Given the description of an element on the screen output the (x, y) to click on. 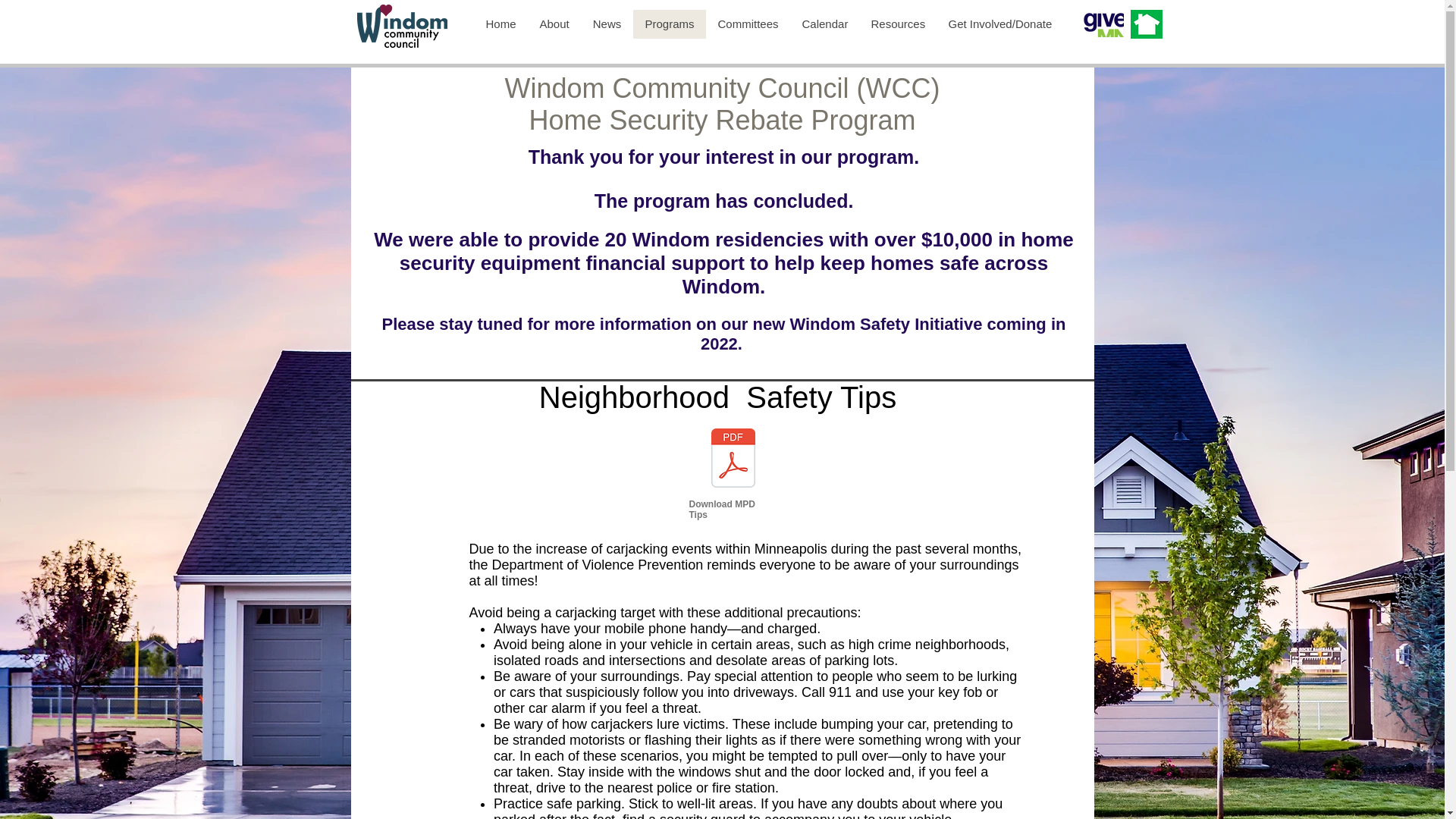
About (553, 23)
Committees (746, 23)
Home (500, 23)
Calendar (824, 23)
News (606, 23)
Resources (897, 23)
Programs (667, 23)
